Given the description of an element on the screen output the (x, y) to click on. 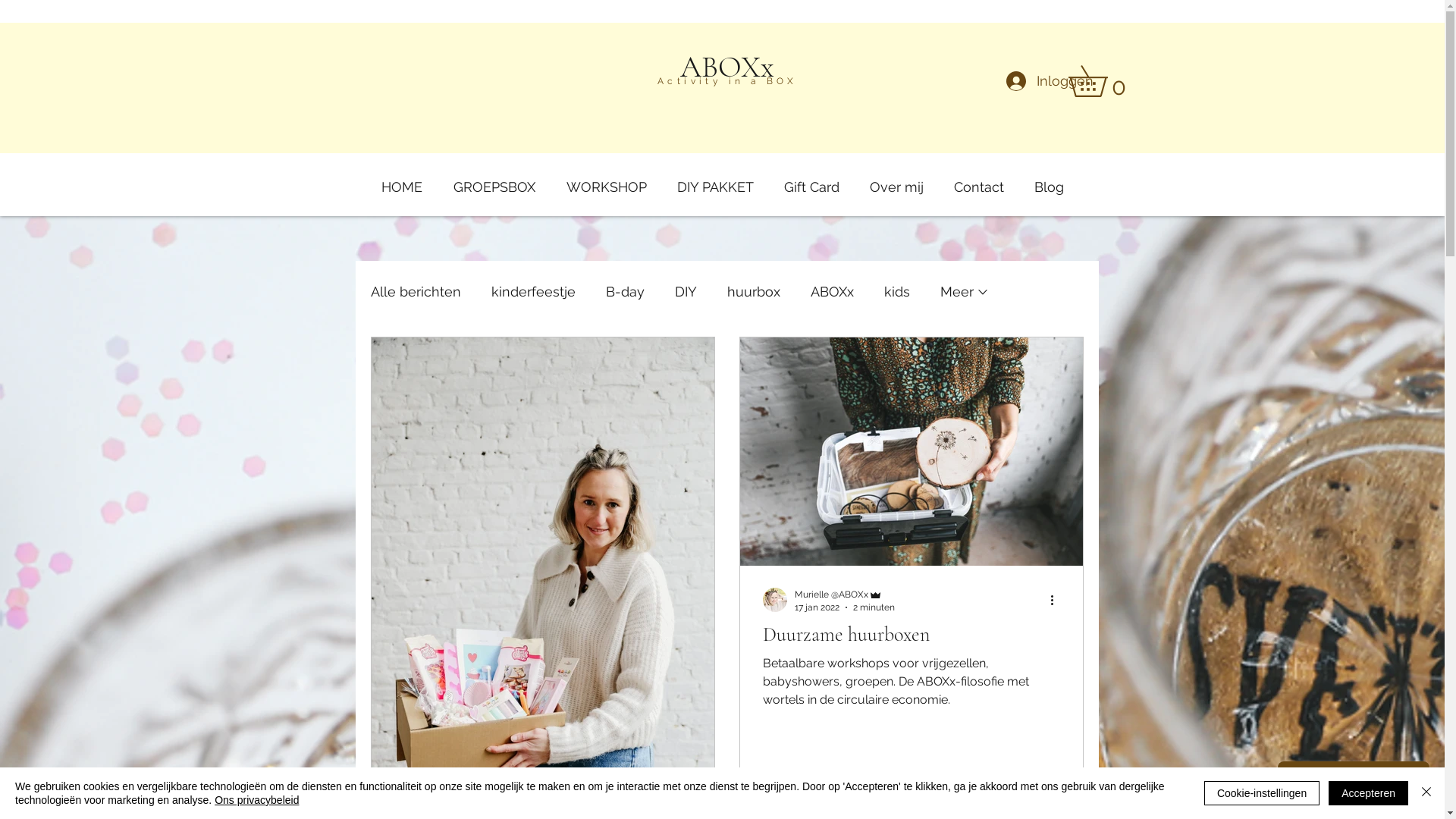
Contact Element type: text (978, 180)
GROEPSBOX Element type: text (494, 180)
Accepteren Element type: text (1368, 793)
Inloggen Element type: text (1039, 80)
DIY Element type: text (685, 291)
B-day Element type: text (624, 291)
WORKSHOP Element type: text (605, 180)
ABOXx Element type: text (727, 66)
Duurzame huurboxen Element type: text (911, 634)
Ons privacybeleid Element type: text (256, 799)
Post is niet als leuk gemarkeerd Element type: text (1051, 805)
kinderfeestje Element type: text (533, 291)
Blog Element type: text (1049, 180)
0 opmerkingen Element type: text (863, 805)
Gift Card Element type: text (811, 180)
Over mij Element type: text (895, 180)
ABOXx Element type: text (831, 291)
huurbox Element type: text (752, 291)
DIY PAKKET Element type: text (714, 180)
Murielle @ABOXx Element type: text (844, 593)
kids Element type: text (897, 291)
0 Element type: text (1101, 81)
Cookie-instellingen Element type: text (1261, 793)
Alle berichten Element type: text (415, 291)
HOME Element type: text (401, 180)
